Given the description of an element on the screen output the (x, y) to click on. 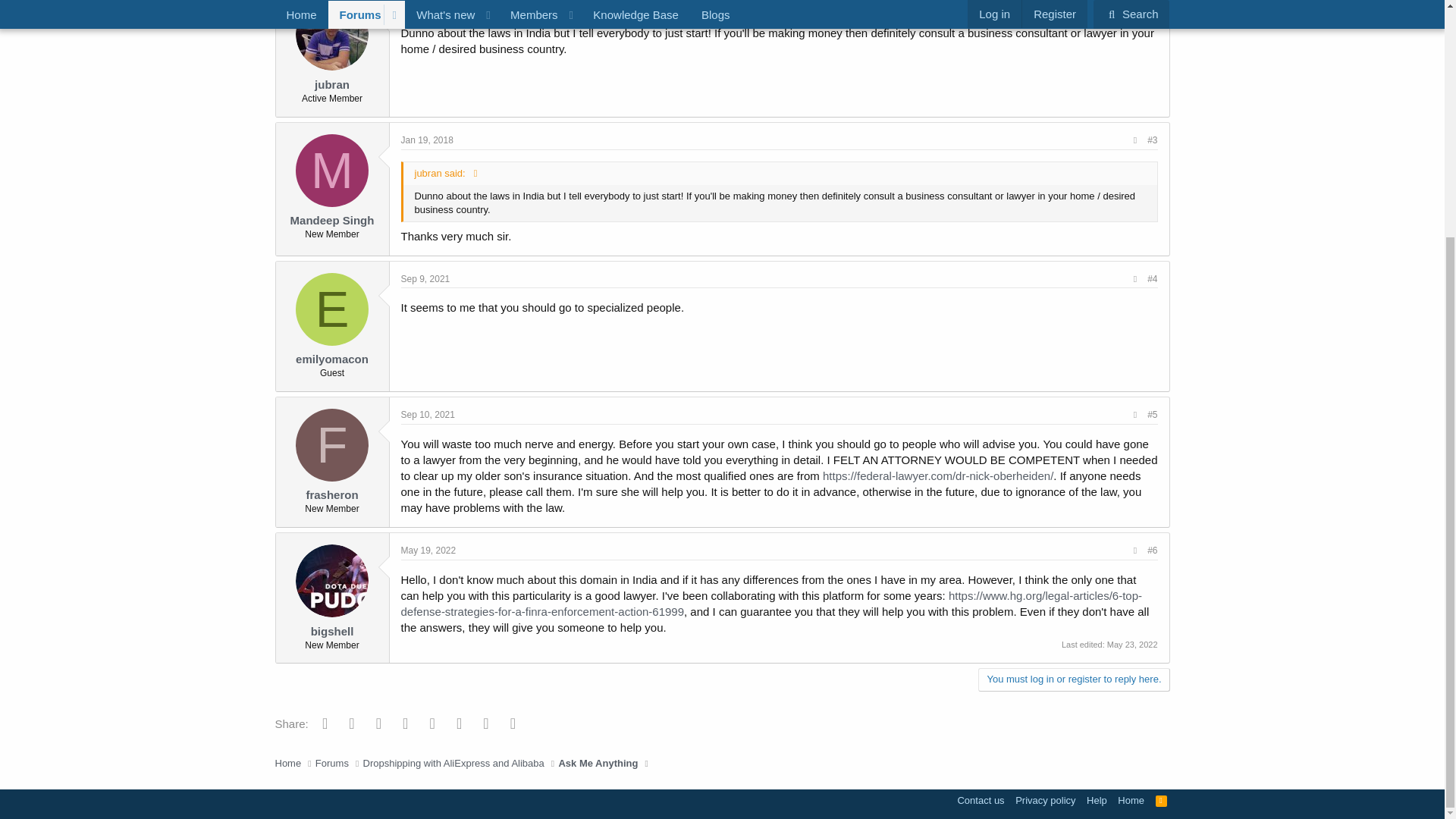
May 23, 2022 at 7:27 AM (1131, 644)
Sep 10, 2021 at 5:29 AM (427, 414)
RSS (1161, 800)
Sep 9, 2021 at 2:57 PM (424, 278)
May 19, 2022 at 12:15 PM (427, 550)
Jan 19, 2018 at 7:57 PM (426, 4)
Jan 19, 2018 at 9:17 PM (426, 140)
